Given the description of an element on the screen output the (x, y) to click on. 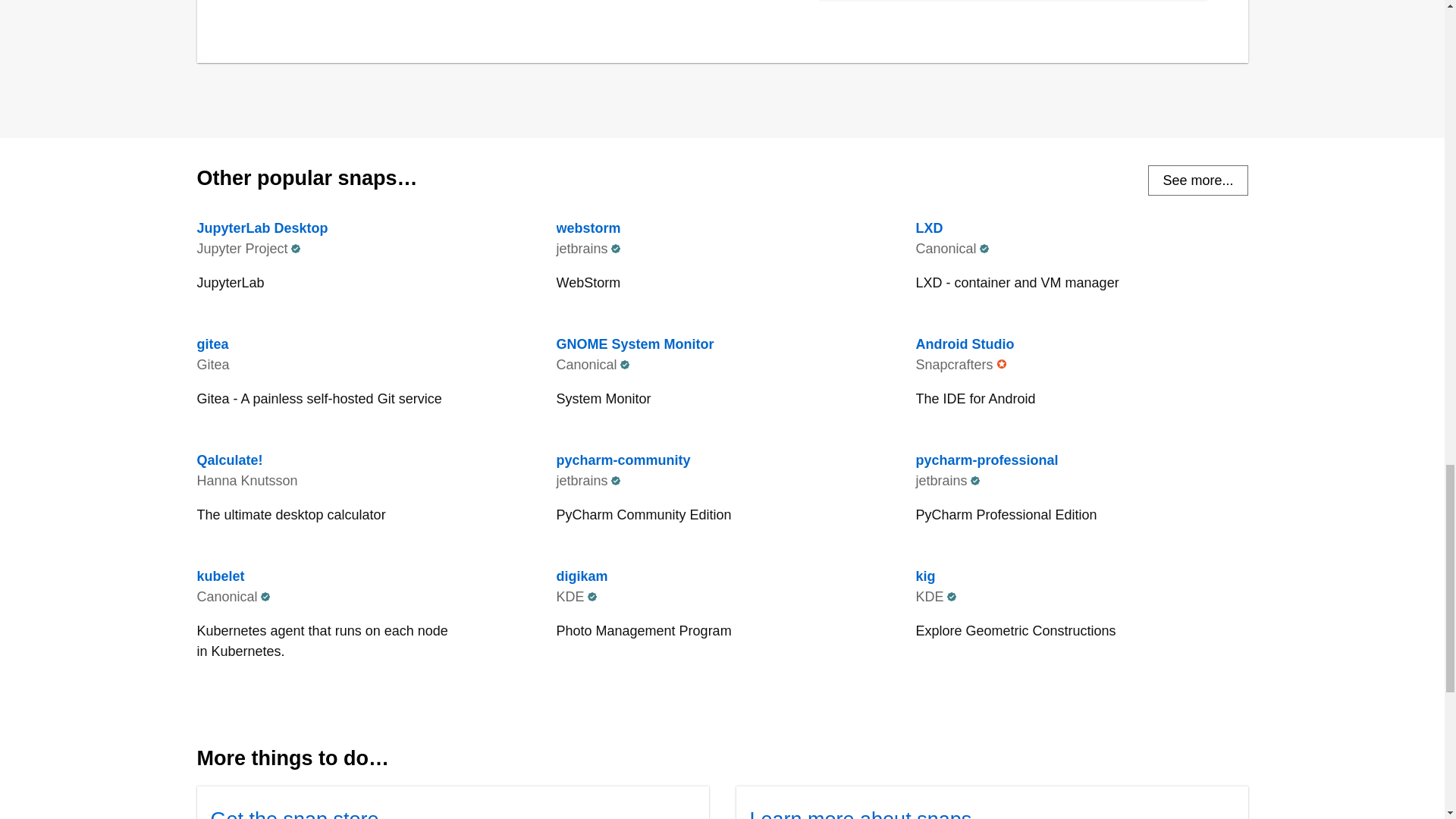
See more... (722, 608)
Get the snap store (1197, 180)
Learn more about snaps (294, 813)
